Given the description of an element on the screen output the (x, y) to click on. 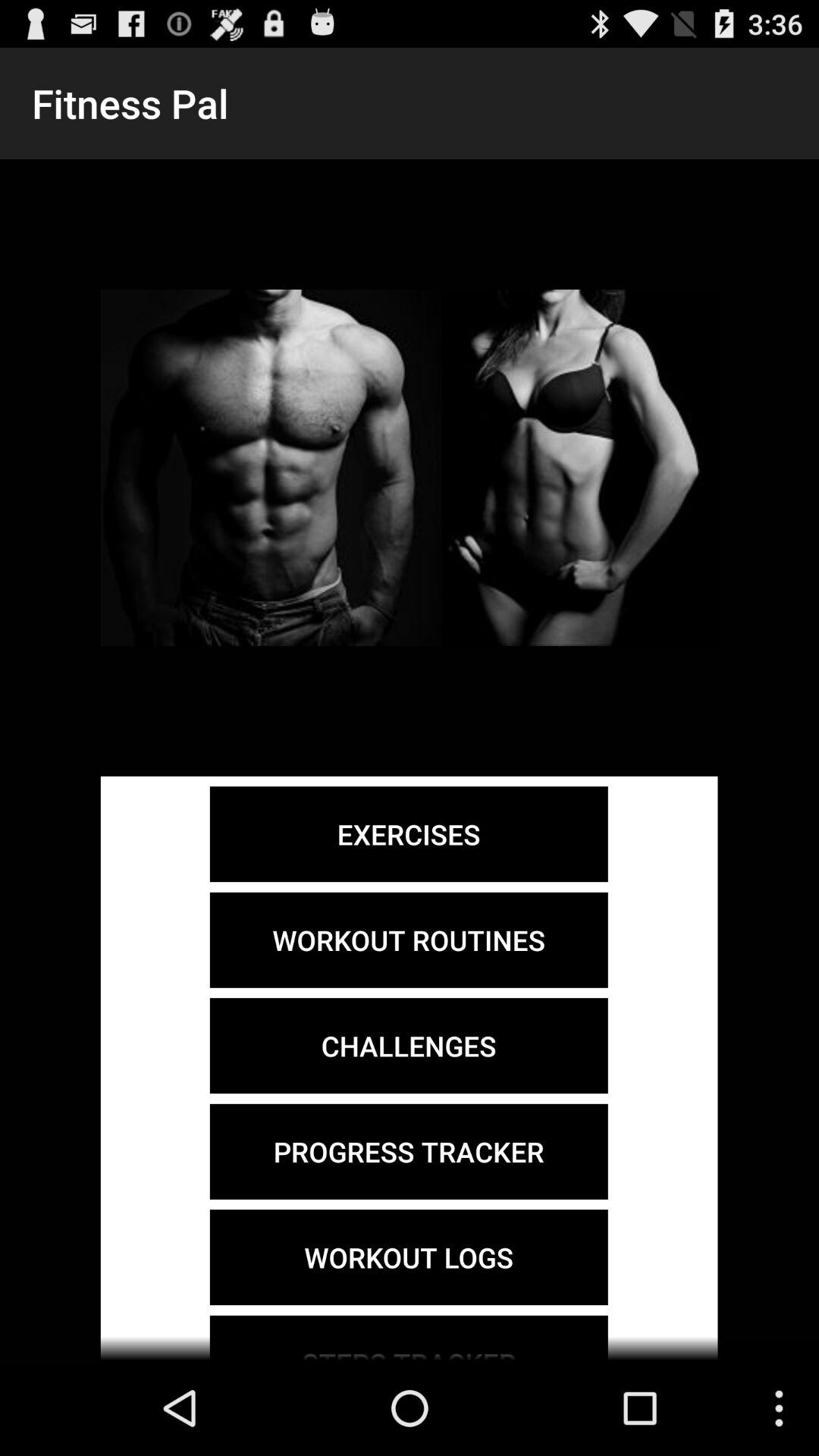
turn off item above the workout logs icon (408, 1151)
